Given the description of an element on the screen output the (x, y) to click on. 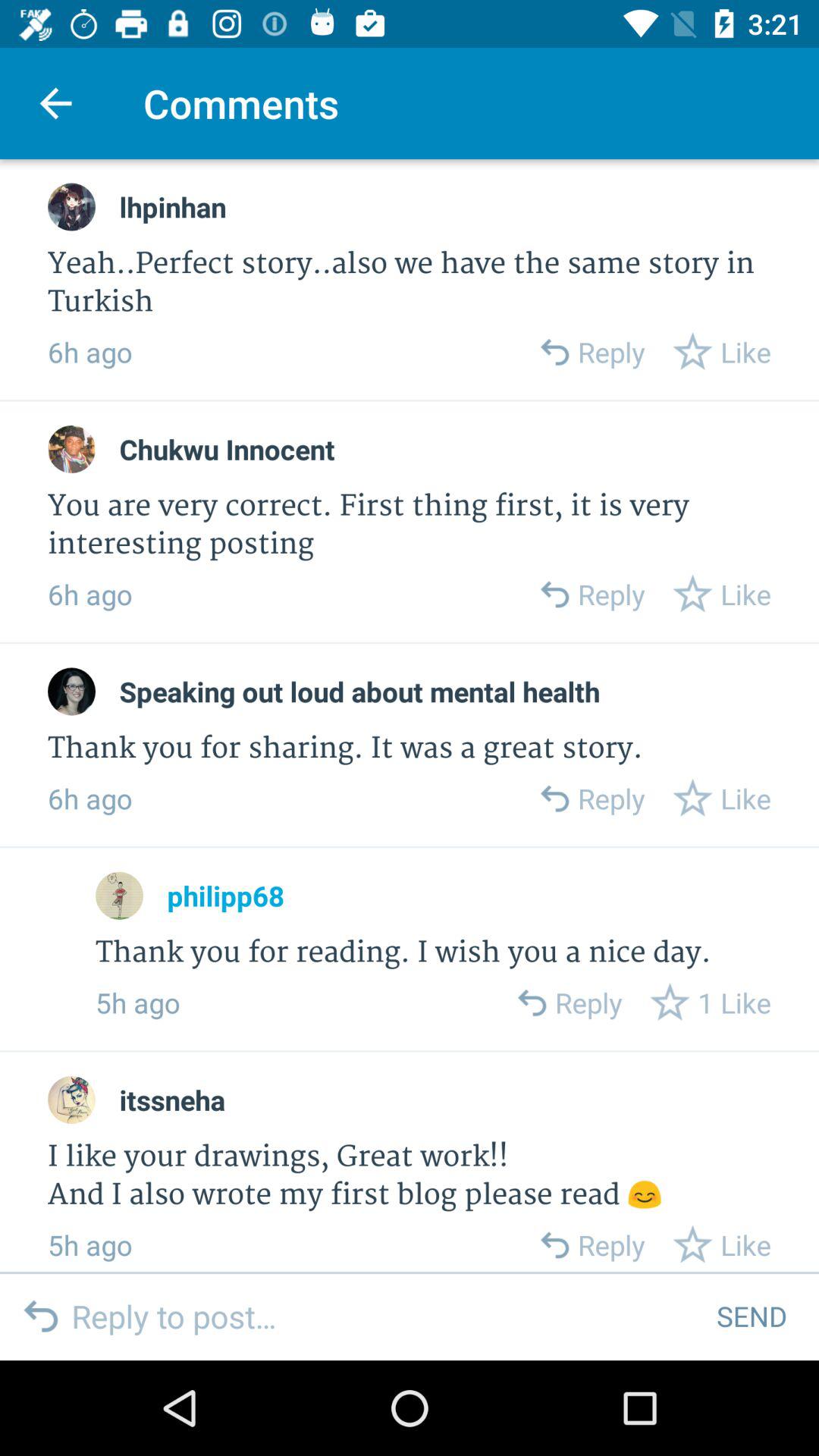
launch the item above the thank you for icon (359, 691)
